Given the description of an element on the screen output the (x, y) to click on. 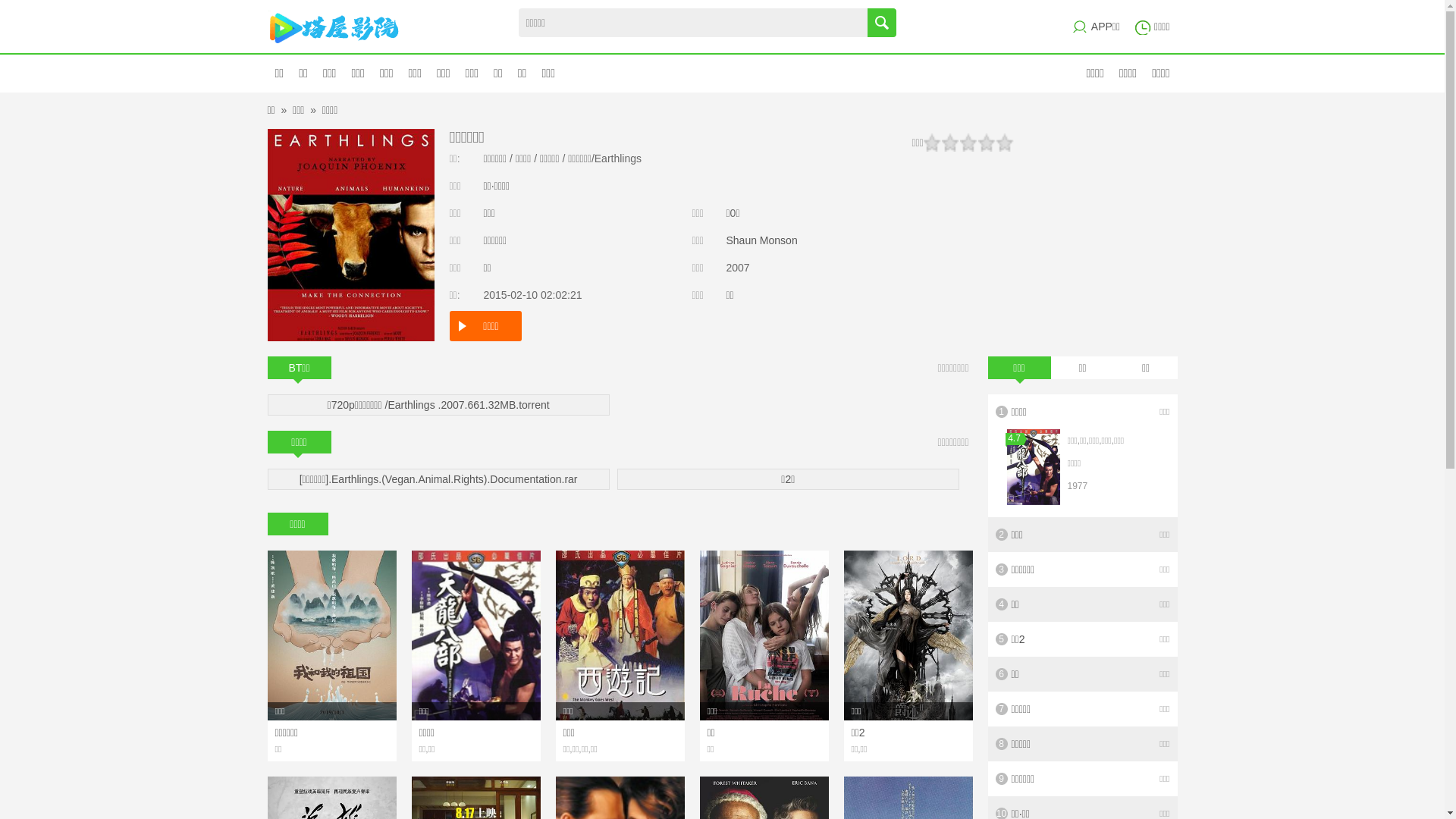
Shaun Monson Element type: text (761, 240)
